Given the description of an element on the screen output the (x, y) to click on. 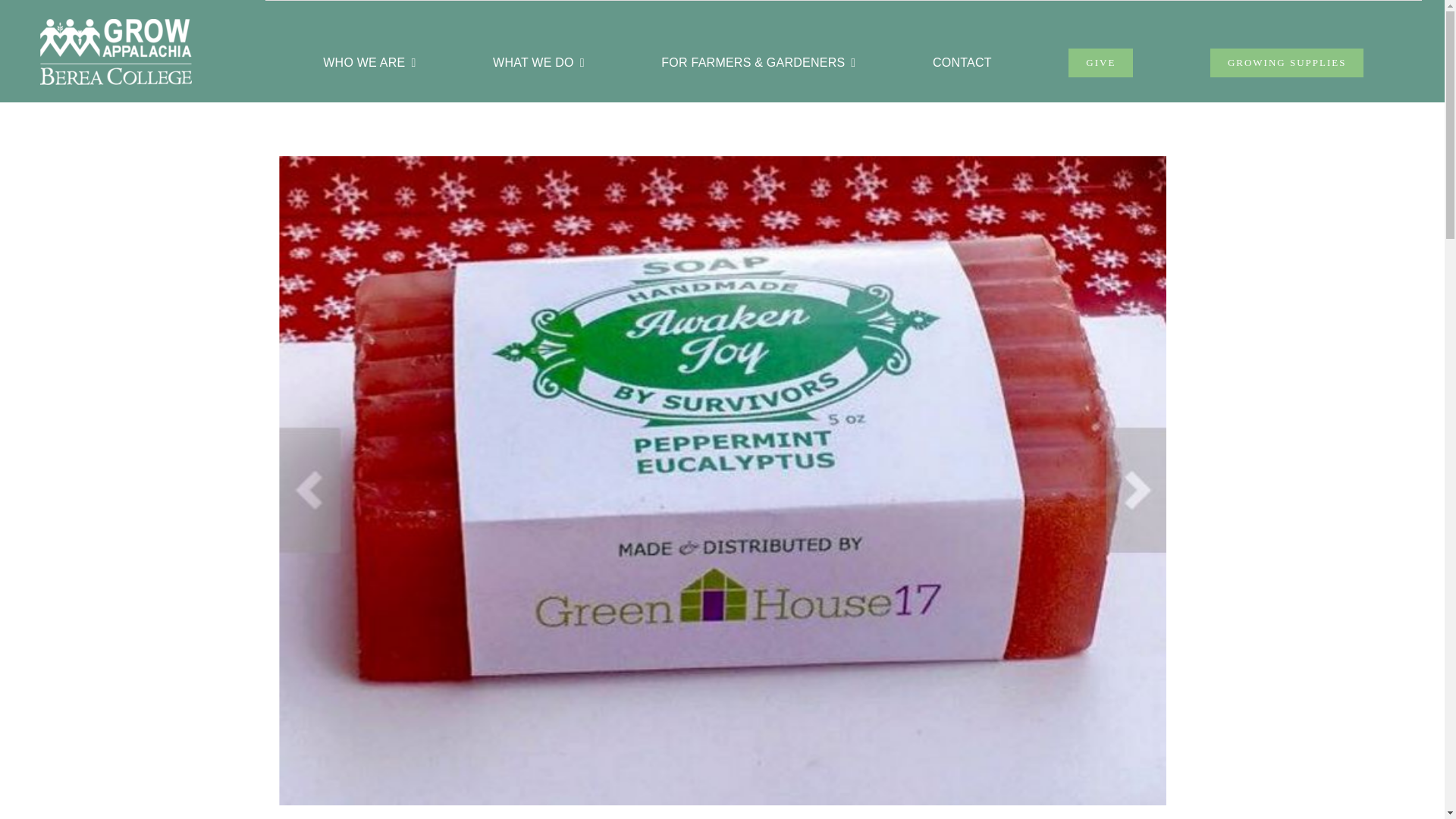
GIVE (1100, 62)
GROWING SUPPLIES (1286, 62)
CONTACT (962, 62)
WHAT WE DO (539, 62)
WHO WE ARE (368, 62)
